Given the description of an element on the screen output the (x, y) to click on. 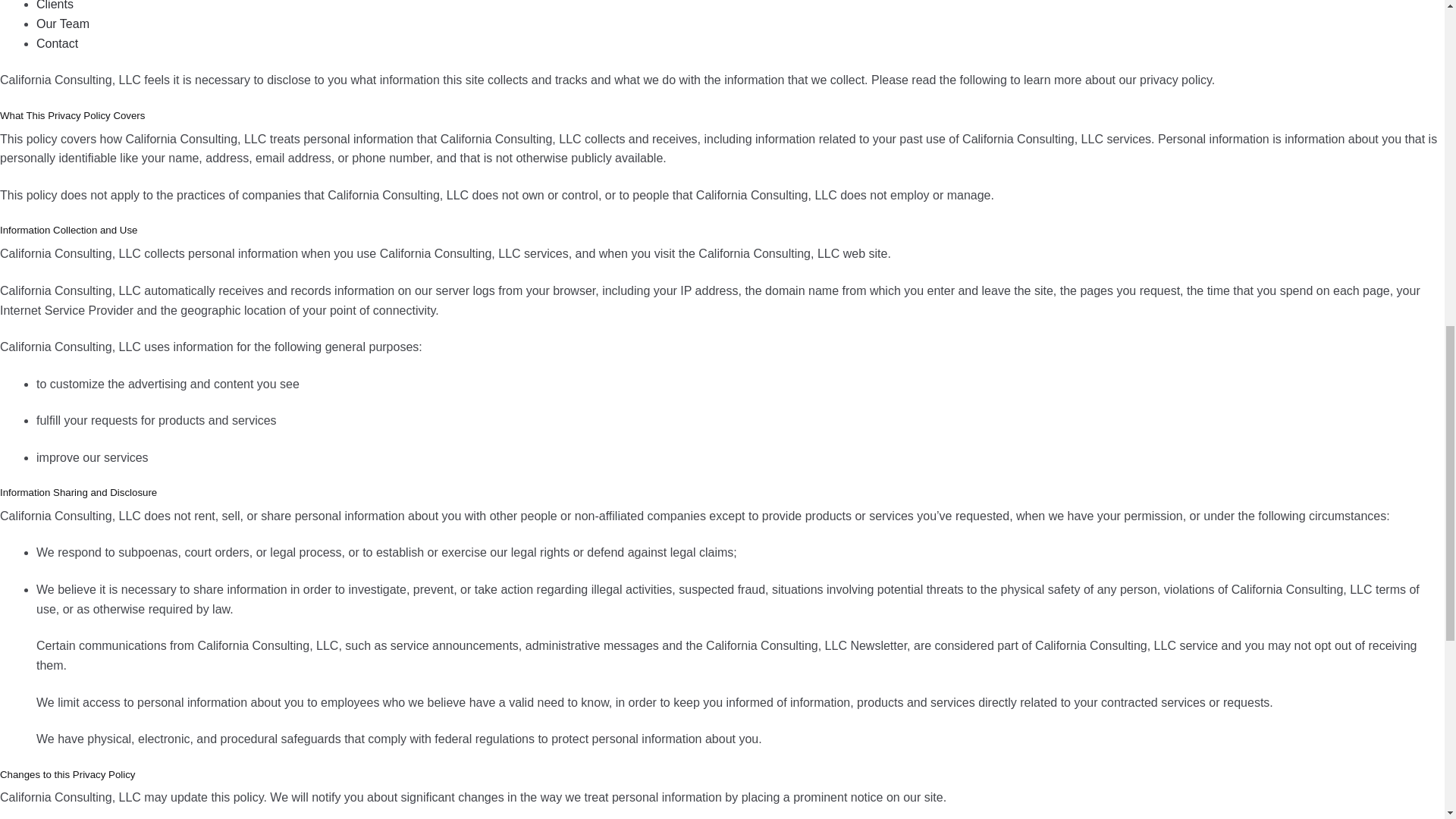
Contact (57, 42)
Clients (55, 5)
Our Team (62, 23)
